Given the description of an element on the screen output the (x, y) to click on. 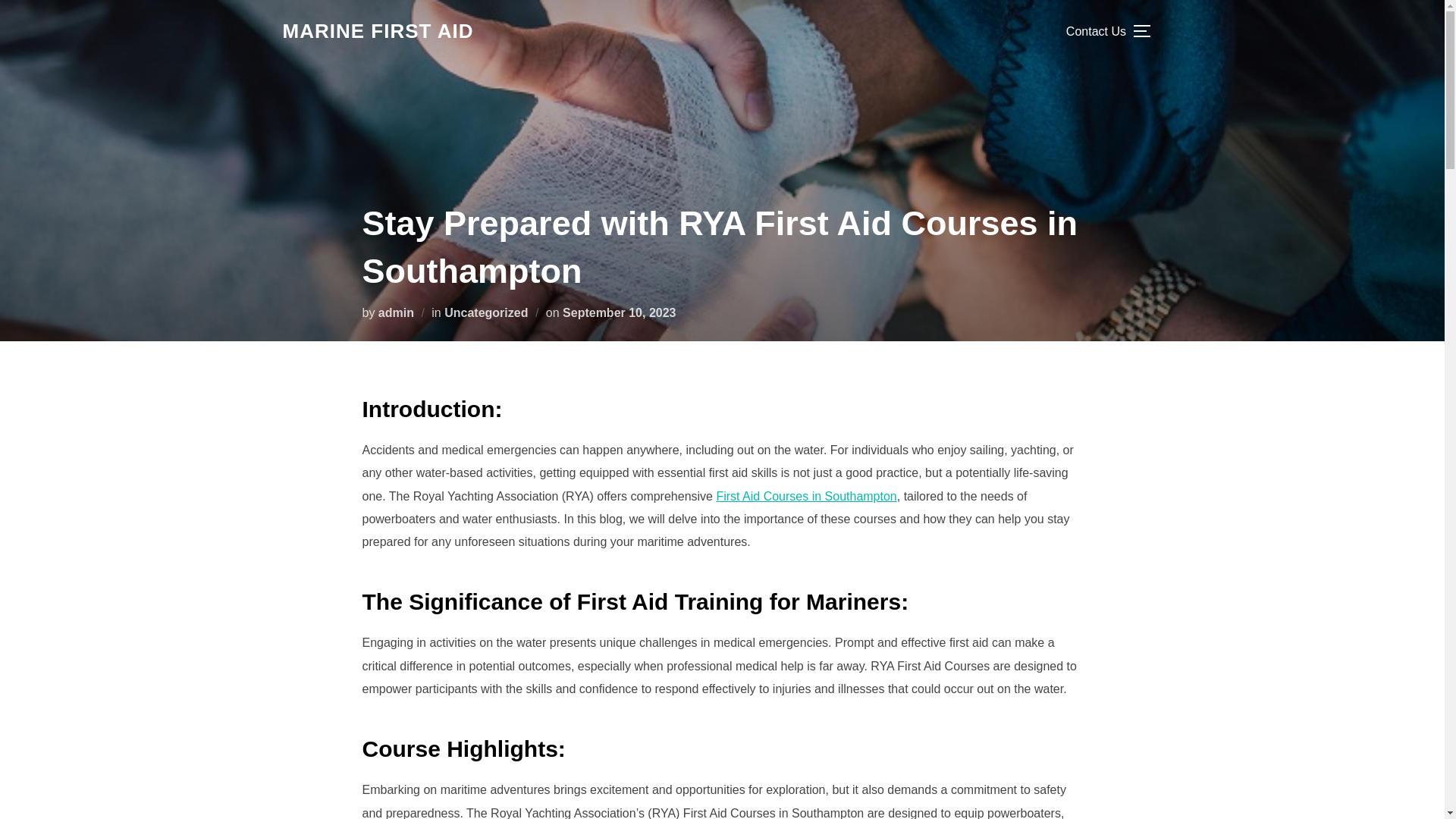
admin (395, 312)
First Aid Courses in Southampton (806, 495)
September 10, 2023 (618, 312)
Uncategorized (485, 312)
Contact Us (1095, 30)
MARINE FIRST AID (377, 31)
Marine First Aid Blogs (377, 31)
